Given the description of an element on the screen output the (x, y) to click on. 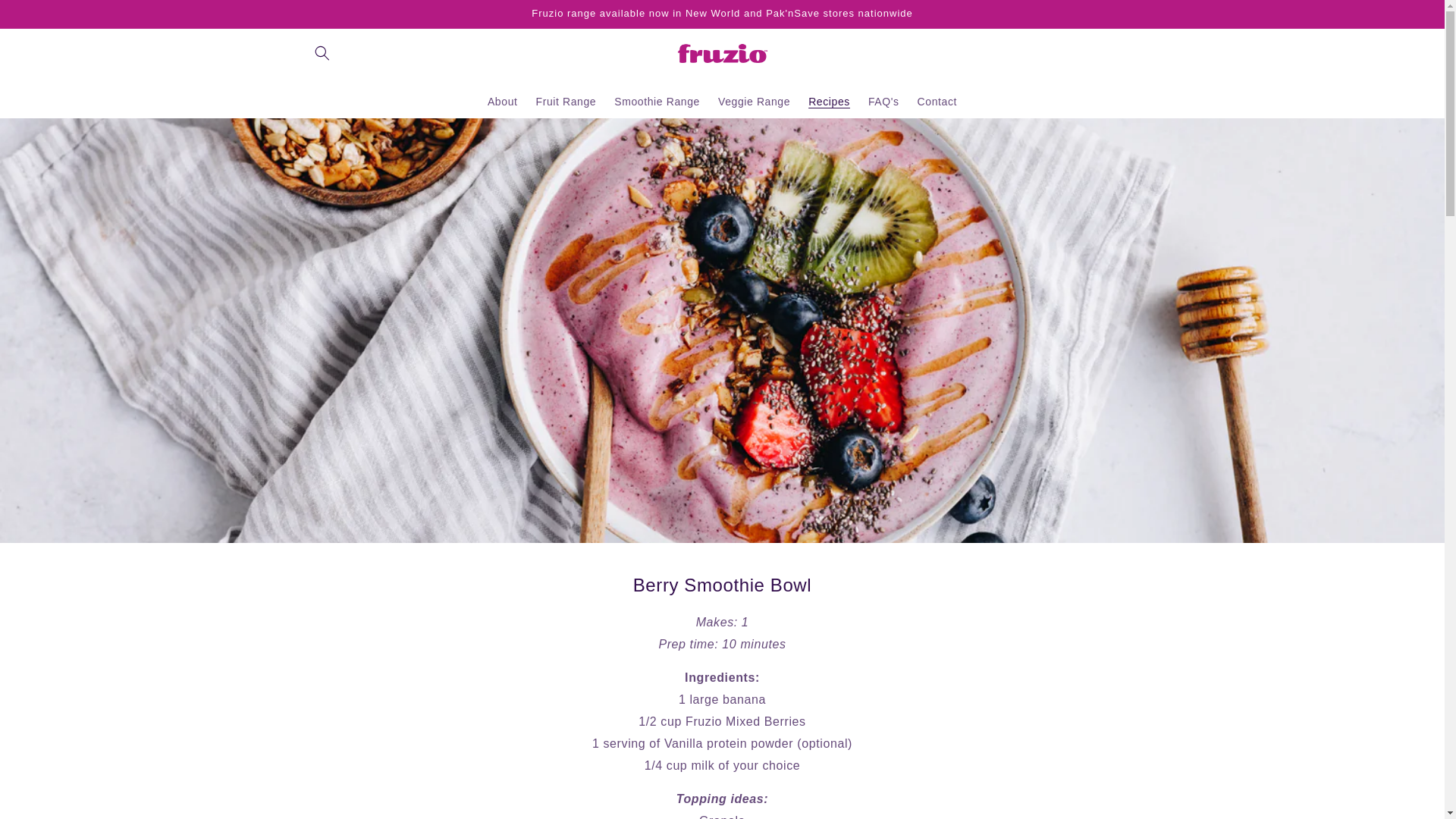
Skip to content (45, 17)
Fruit Range (566, 101)
Recipes (829, 101)
About (503, 101)
FAQ's (883, 101)
Veggie Range (754, 101)
Contact (937, 101)
Smoothie Range (657, 101)
